Given the description of an element on the screen output the (x, y) to click on. 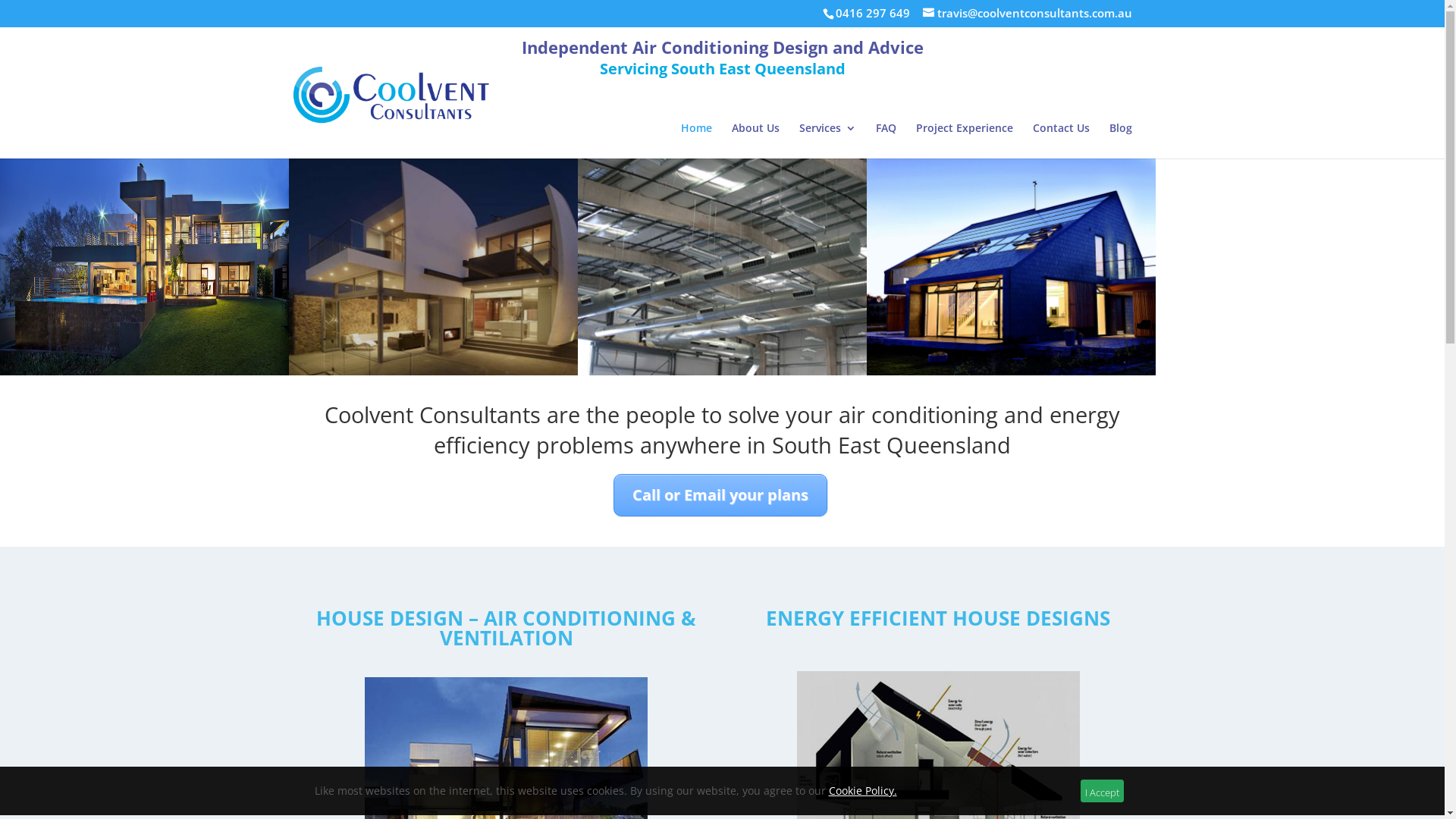
I Accept Element type: text (1101, 790)
Home Element type: text (696, 140)
Contact Us Element type: text (1060, 140)
travis@coolventconsultants.com.au Element type: text (1026, 12)
Cookie Policy. Element type: text (862, 790)
FAQ Element type: text (885, 140)
Project Experience Element type: text (964, 140)
About Us Element type: text (754, 140)
Call or Email your plans Element type: text (719, 494)
Services Element type: text (827, 140)
Blog Element type: text (1119, 140)
